Given the description of an element on the screen output the (x, y) to click on. 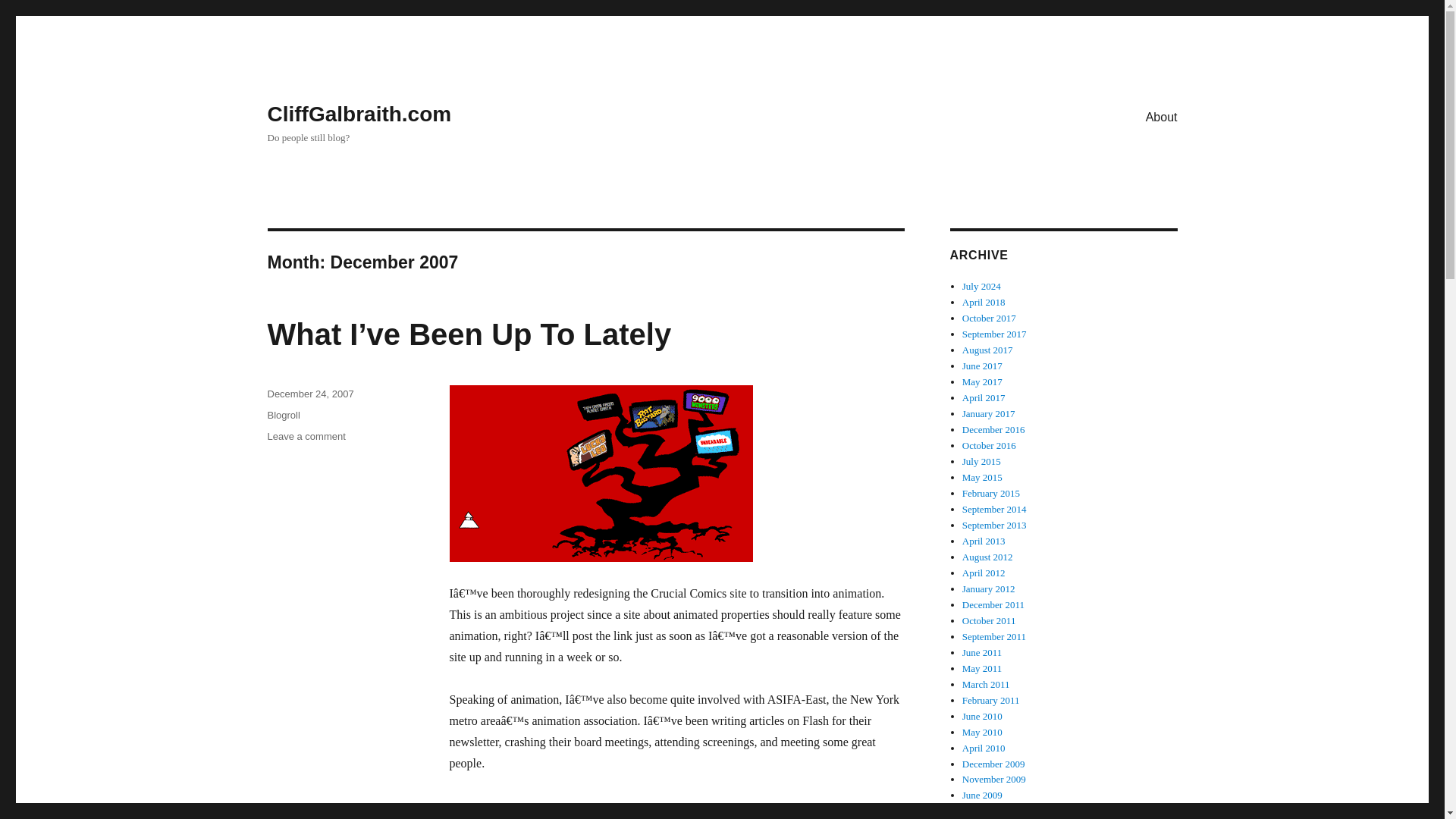
July 2015 (981, 460)
April 2013 (984, 541)
May 2015 (982, 477)
CliffGalbraith.com (358, 114)
Blogroll (282, 414)
September 2013 (994, 524)
May 2017 (982, 381)
July 2024 (981, 285)
picture-4.gif (676, 472)
September 2017 (994, 333)
September 2014 (994, 509)
October 2016 (989, 445)
January 2017 (988, 413)
April 2018 (984, 301)
December 2016 (993, 429)
